Given the description of an element on the screen output the (x, y) to click on. 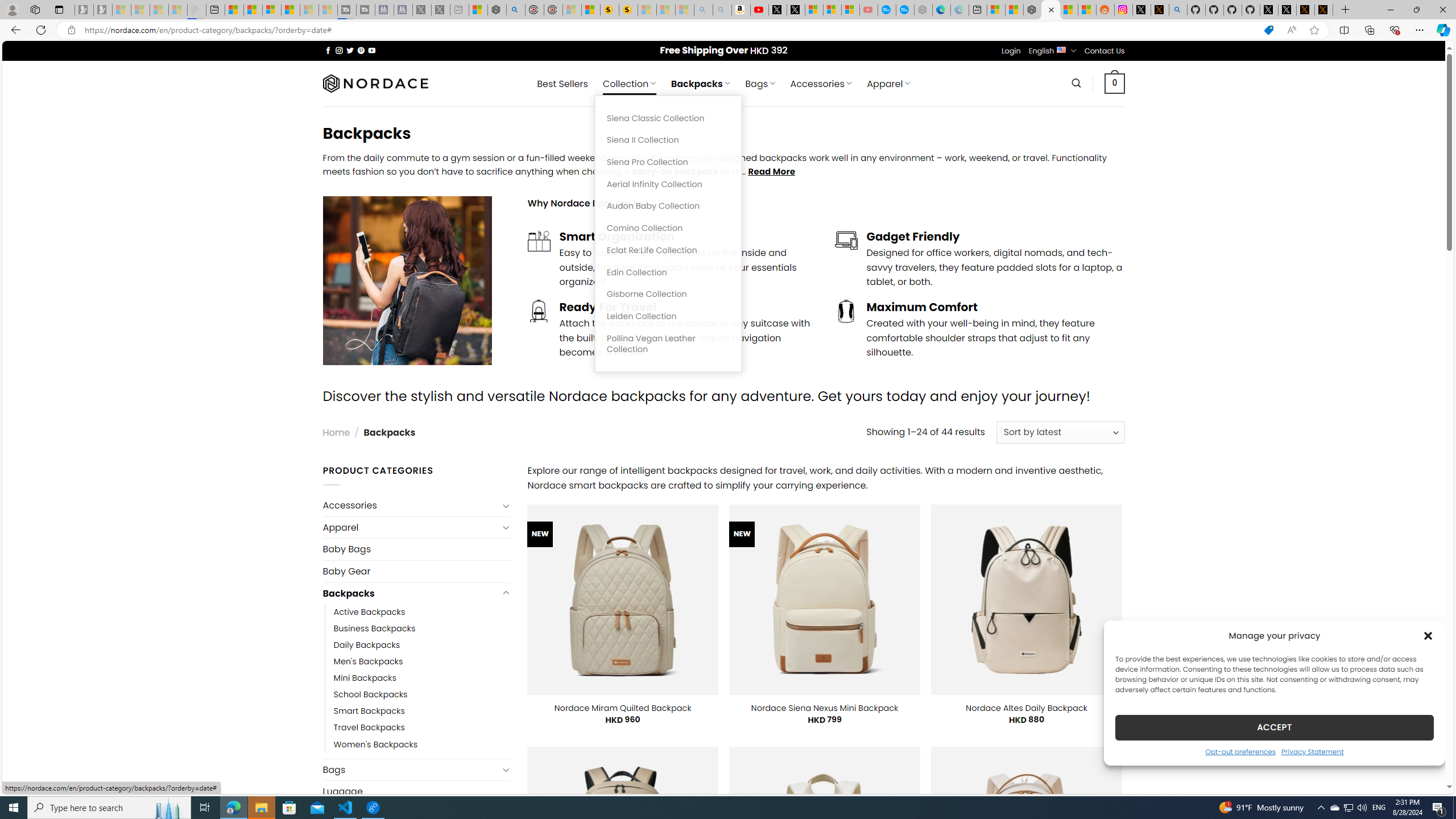
Smart Backpacks (368, 710)
Gisborne Collection (668, 294)
Aerial Infinity Collection (668, 183)
poe - Search (515, 9)
The most popular Google 'how to' searches (904, 9)
Privacy Statement (1312, 750)
Siena Classic Collection (668, 118)
Login (1010, 50)
Daily Backpacks (366, 645)
Luggage (416, 791)
Backpacks (410, 593)
